Given the description of an element on the screen output the (x, y) to click on. 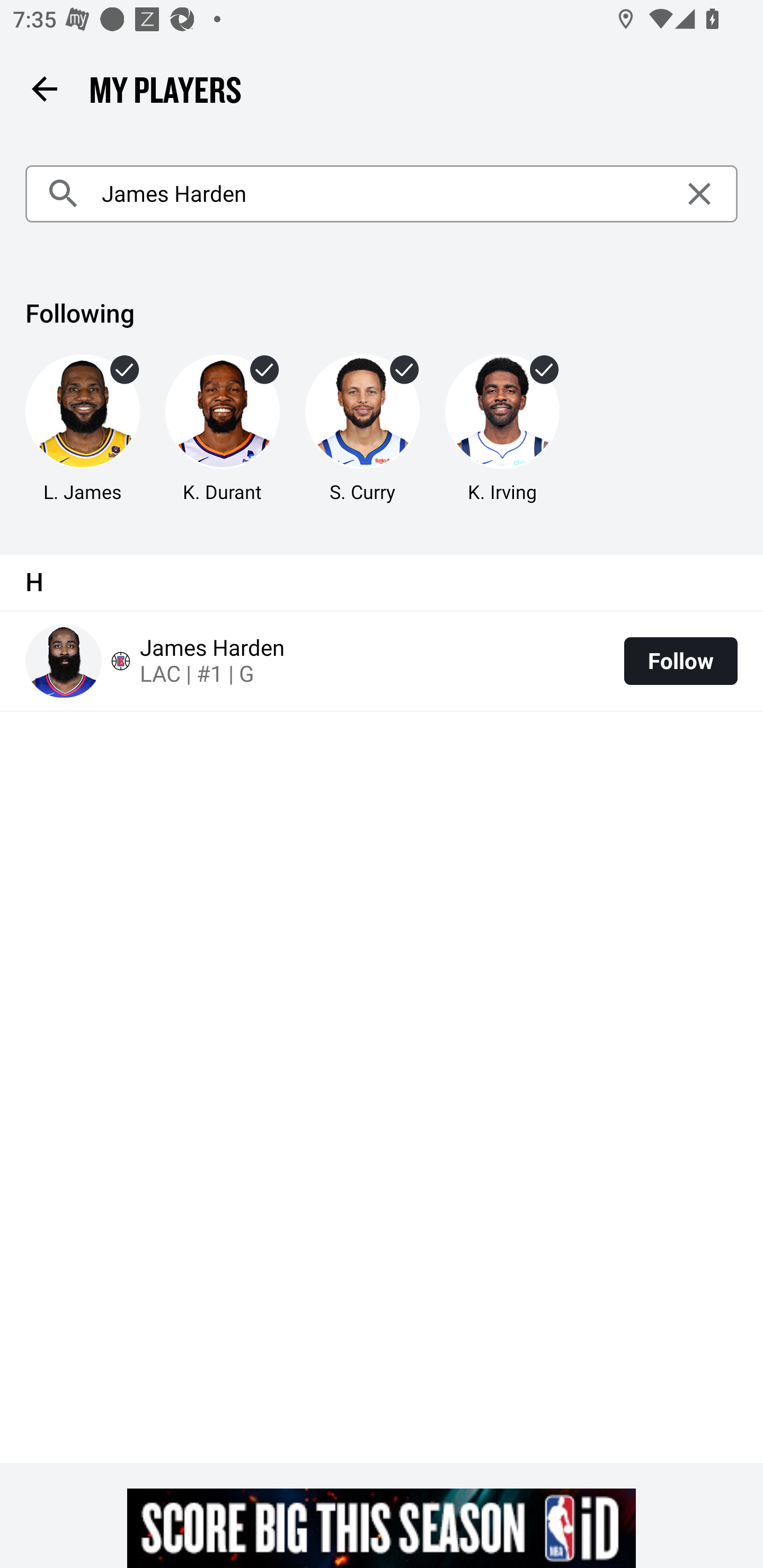
Back button (44, 88)
James Harden (381, 193)
Follow (680, 660)
g5nqqygr7owph (381, 1528)
